Given the description of an element on the screen output the (x, y) to click on. 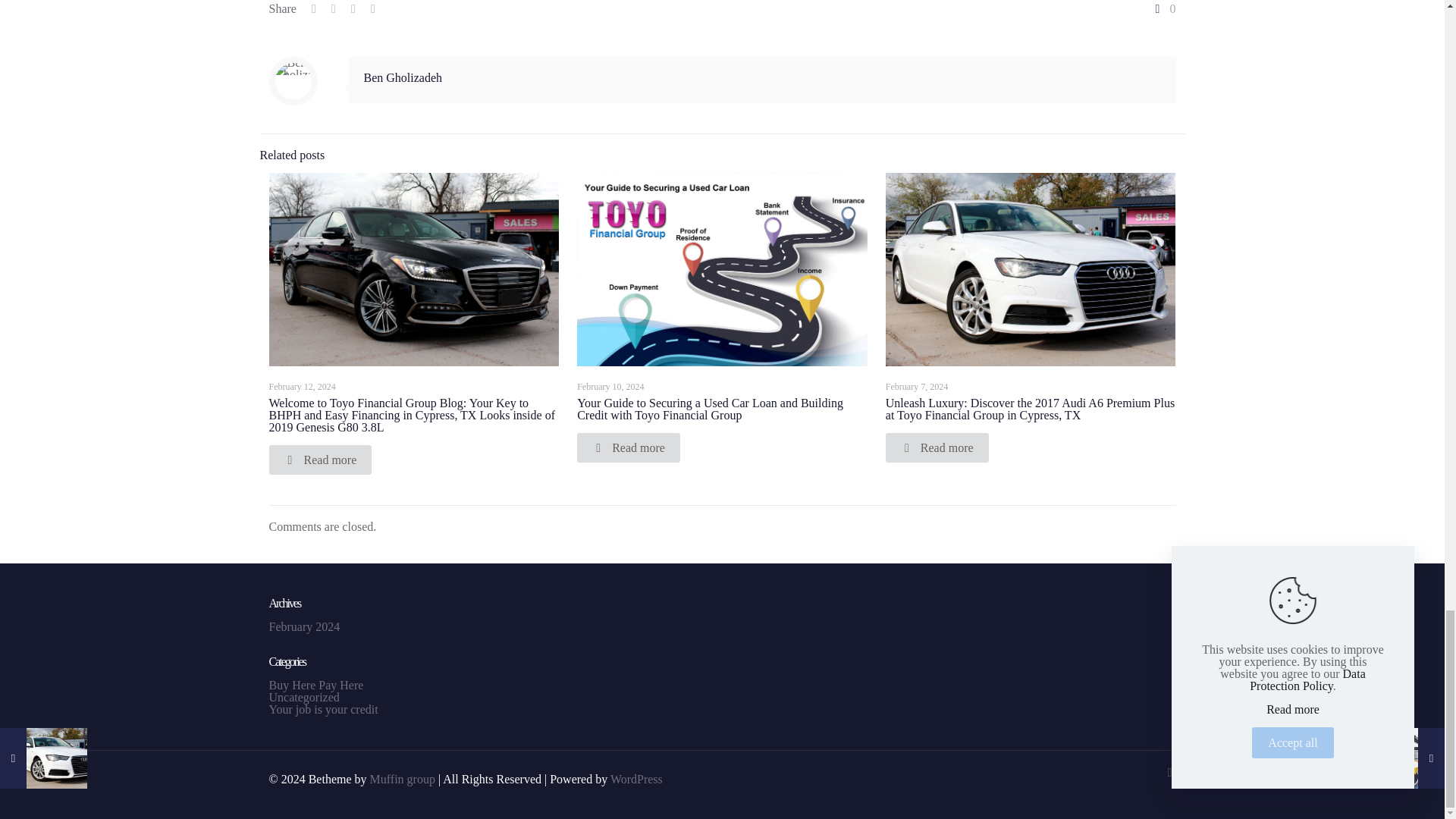
Ben Gholizadeh (403, 77)
Read more (627, 447)
0 (1162, 9)
Your job is your credit (322, 708)
Read more (319, 460)
February 2024 (303, 626)
Read more (936, 447)
Buy Here Pay Here (314, 684)
Uncategorized (303, 697)
